Given the description of an element on the screen output the (x, y) to click on. 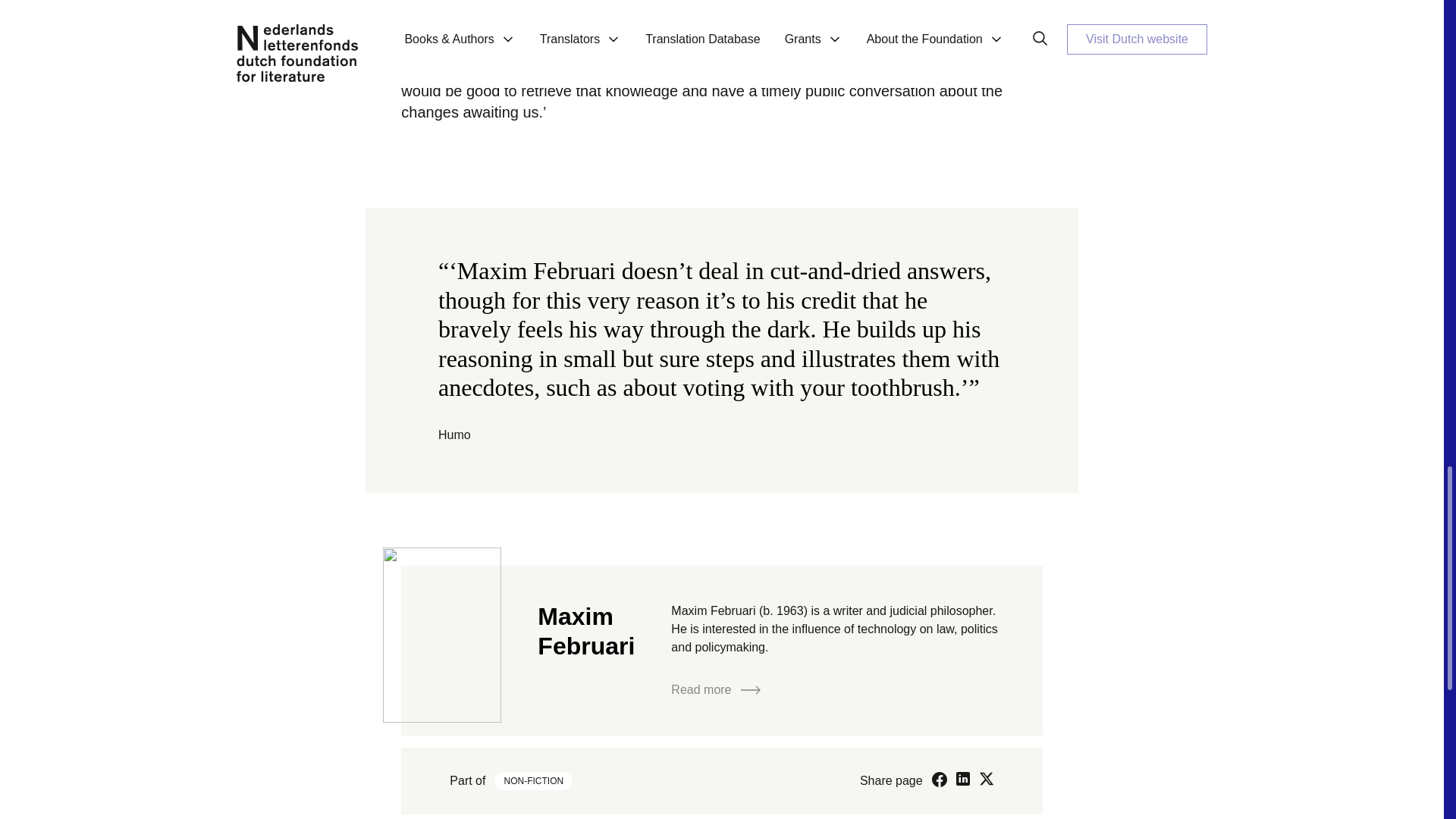
Read more (715, 689)
